Given the description of an element on the screen output the (x, y) to click on. 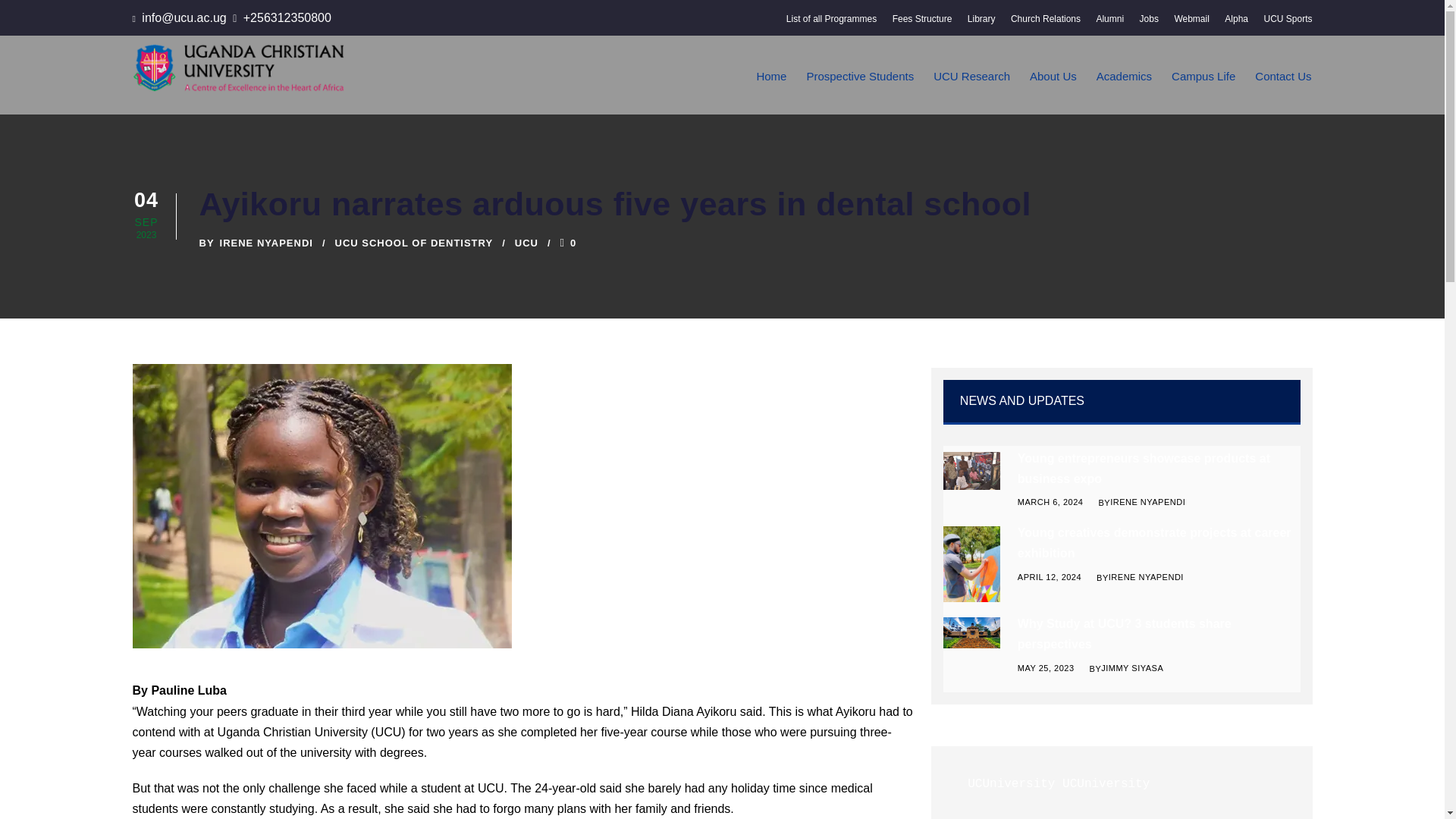
About Us (1053, 90)
Prospective Students (860, 90)
UCU Sports (1287, 22)
Jobs (1149, 22)
4March-2024Expo1 (971, 470)
Church Relations (1045, 22)
UCU Research (971, 90)
UCU (321, 505)
Webmail (1190, 22)
Alumni (1110, 22)
ucu-logo (237, 66)
List of all Programmes (831, 22)
Alpha (1235, 22)
Fees Structure (922, 22)
Posts by Irene Nyapendi (266, 242)
